Given the description of an element on the screen output the (x, y) to click on. 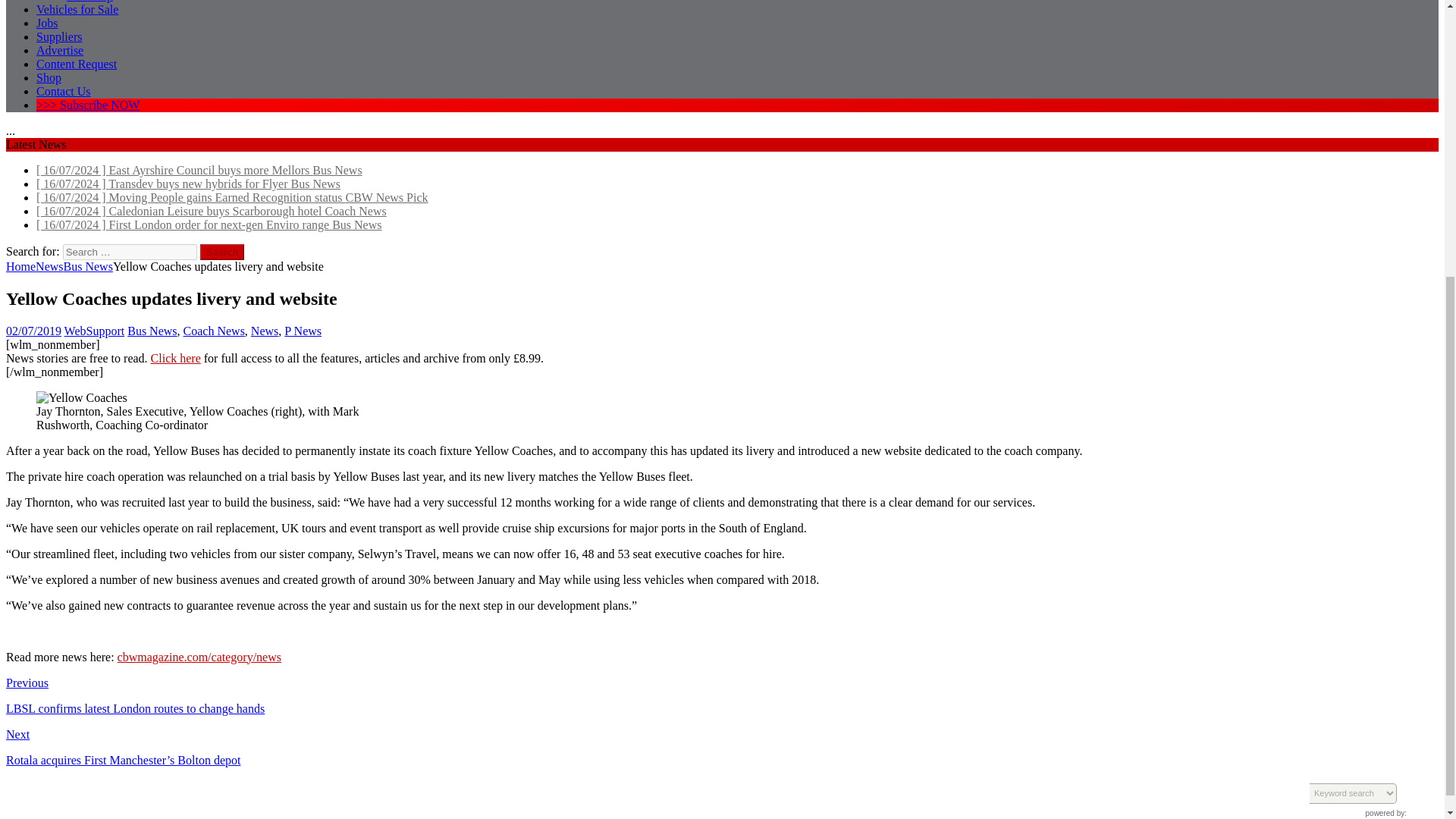
Vehicles for Sale (76, 9)
East Ayrshire Council buys more Mellors (199, 169)
Caledonian Leisure buys Scarborough hotel (211, 210)
Transdev buys new hybrids for Flyer (188, 183)
Suppliers (58, 36)
Search (222, 252)
Content Request (76, 63)
Shop (48, 77)
Last Stop (89, 1)
Jobs (47, 22)
Contact Us (63, 91)
Moving People gains Earned Recognition status (232, 196)
First London order for next-gen Enviro range (208, 224)
Advertise (59, 50)
Search (222, 252)
